Given the description of an element on the screen output the (x, y) to click on. 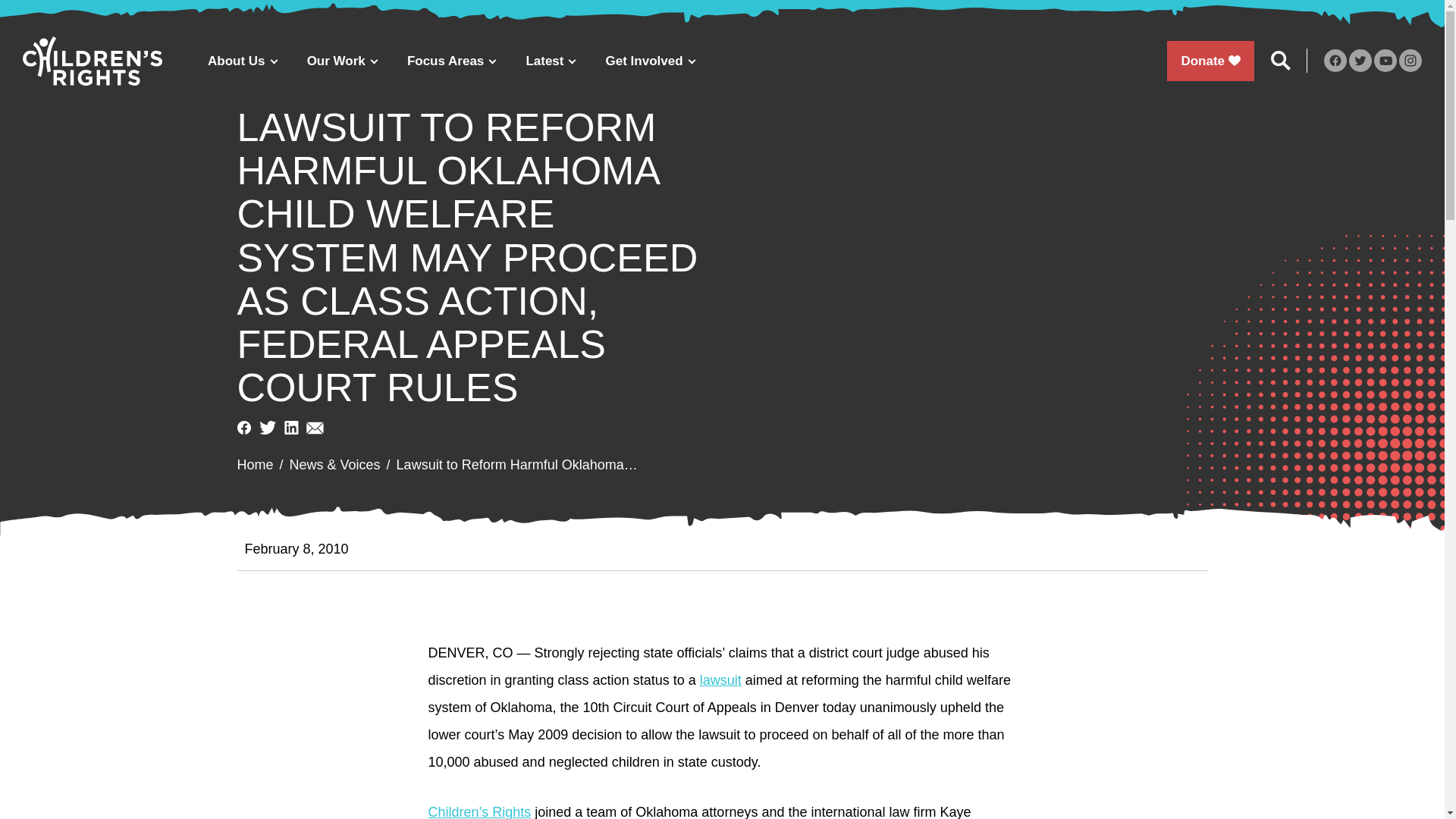
Latest (550, 60)
Share by Email (314, 427)
About Us (242, 60)
Get Involved (650, 60)
Share to LinkedIn (290, 427)
Share to Twitter (267, 427)
Our Work (341, 60)
Share to Facebook (242, 427)
homepage (92, 60)
Focus Areas (451, 60)
Donate (1210, 60)
